Given the description of an element on the screen output the (x, y) to click on. 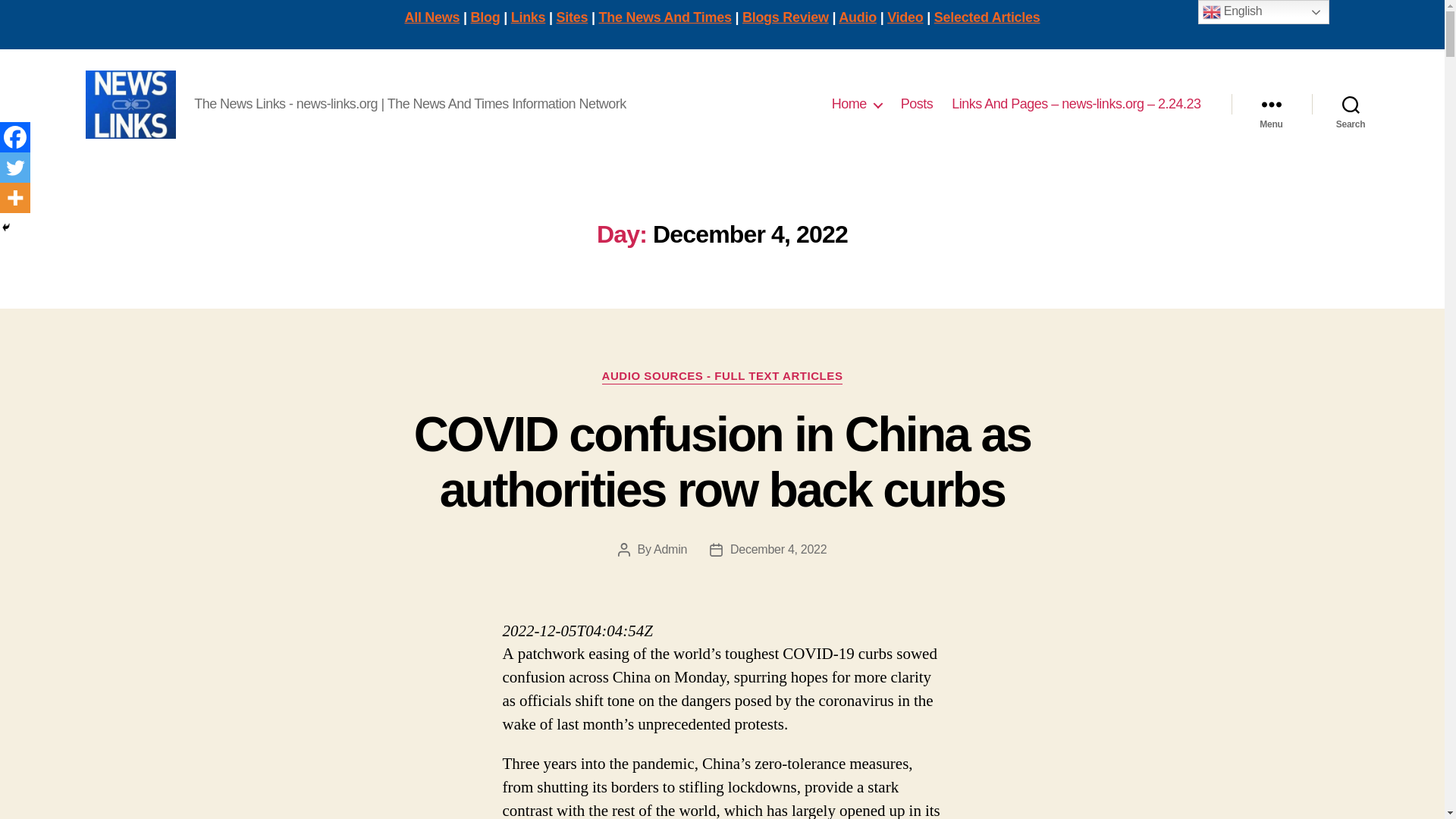
Audio (857, 17)
More (15, 197)
Video (904, 17)
Search (1350, 104)
Blog (485, 17)
Facebook (15, 137)
December 4, 2022 (778, 549)
Home (856, 104)
COVID confusion in China as authorities row back curbs (721, 461)
Sites (572, 17)
Selected Articles (987, 17)
Twitter (15, 167)
Menu (1271, 104)
Hide (5, 227)
Blogs Review (785, 17)
